Given the description of an element on the screen output the (x, y) to click on. 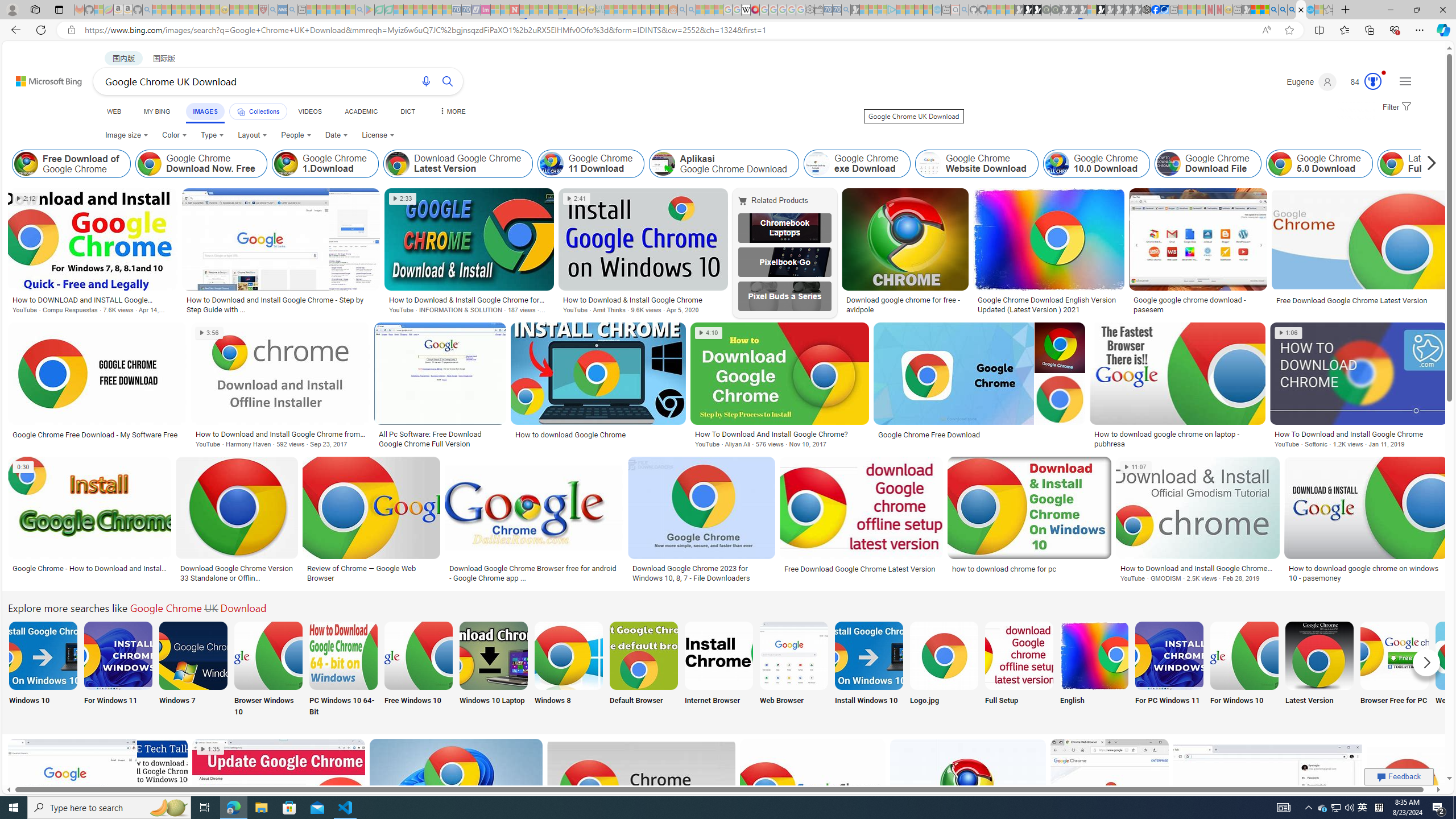
Download Google Chrome Latest Version (1319, 654)
How to download google chrome on laptop - pubhresa (1177, 438)
Google Chrome 5.0 Download (1319, 163)
Color (173, 135)
How to Download & Install Google Chrome (643, 299)
Watch video (23, 466)
License (378, 135)
Target page - Wikipedia (745, 9)
